Given the description of an element on the screen output the (x, y) to click on. 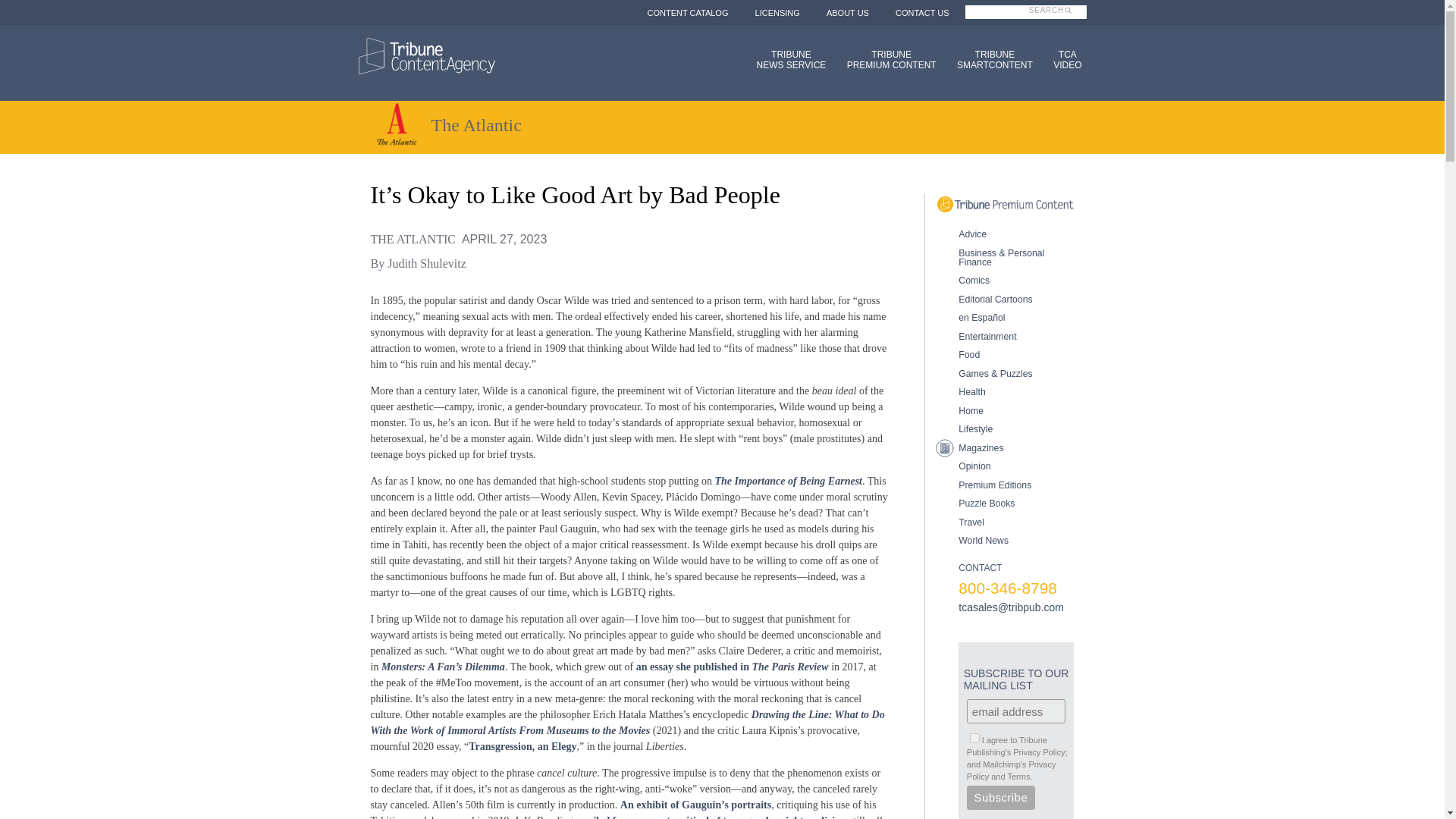
CONTACT US (922, 12)
Subscribe (1062, 59)
LICENSING (886, 59)
Search (1000, 797)
CONTENT CATALOG (777, 12)
1125899906842624 (1060, 18)
ABOUT US (687, 12)
